Given the description of an element on the screen output the (x, y) to click on. 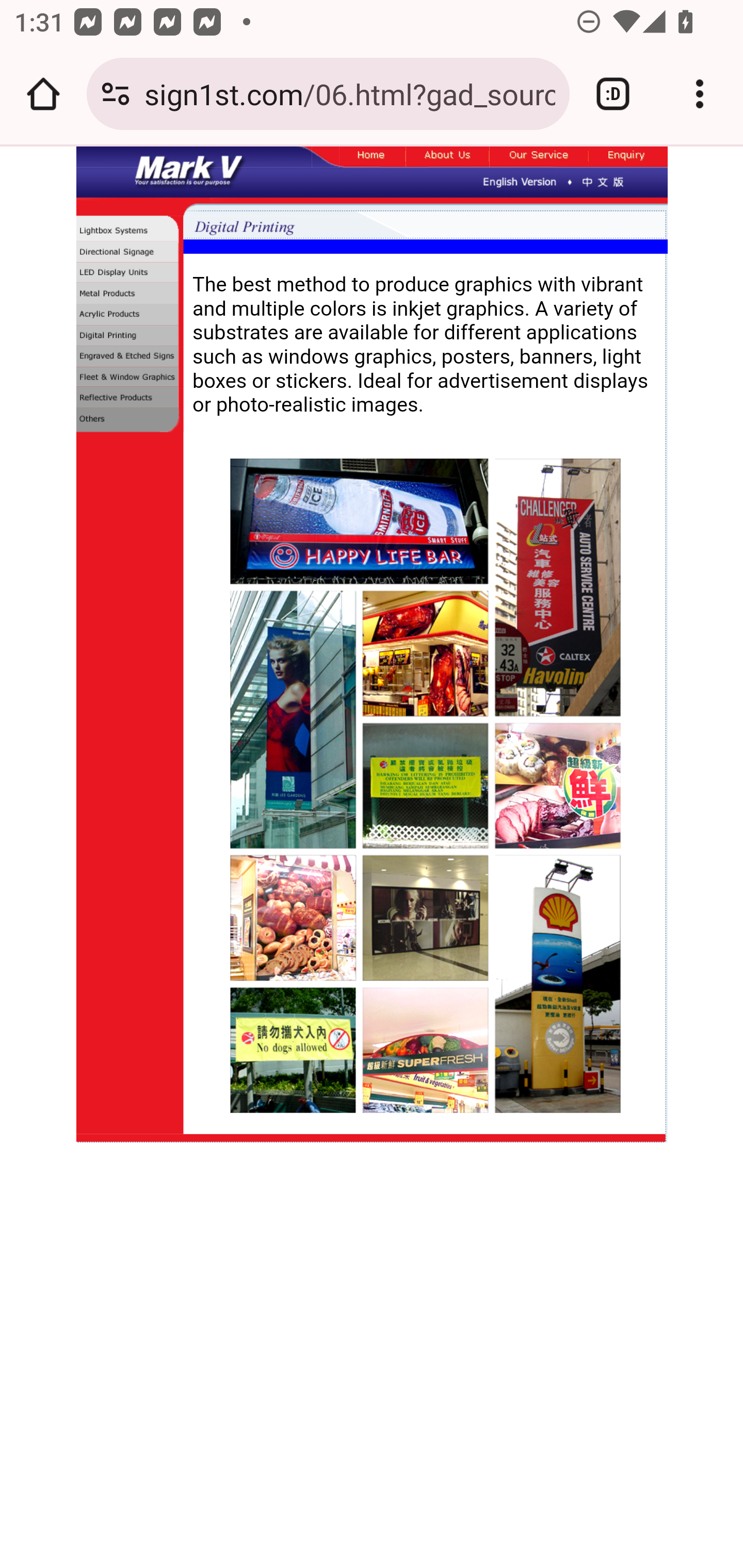
Open the home page (43, 93)
Connection is secure (115, 93)
Switch or close tabs (612, 93)
Customize and control Google Chrome (699, 93)
off_04 (372, 157)
off_05 (446, 157)
off_06 (538, 157)
off_07 (627, 157)
chi-06 (602, 180)
01 (129, 230)
02 (129, 251)
03 (129, 273)
04 (129, 294)
05 (129, 316)
06 (129, 336)
07 (129, 357)
08 (129, 377)
09 (129, 397)
10 (129, 421)
